Given the description of an element on the screen output the (x, y) to click on. 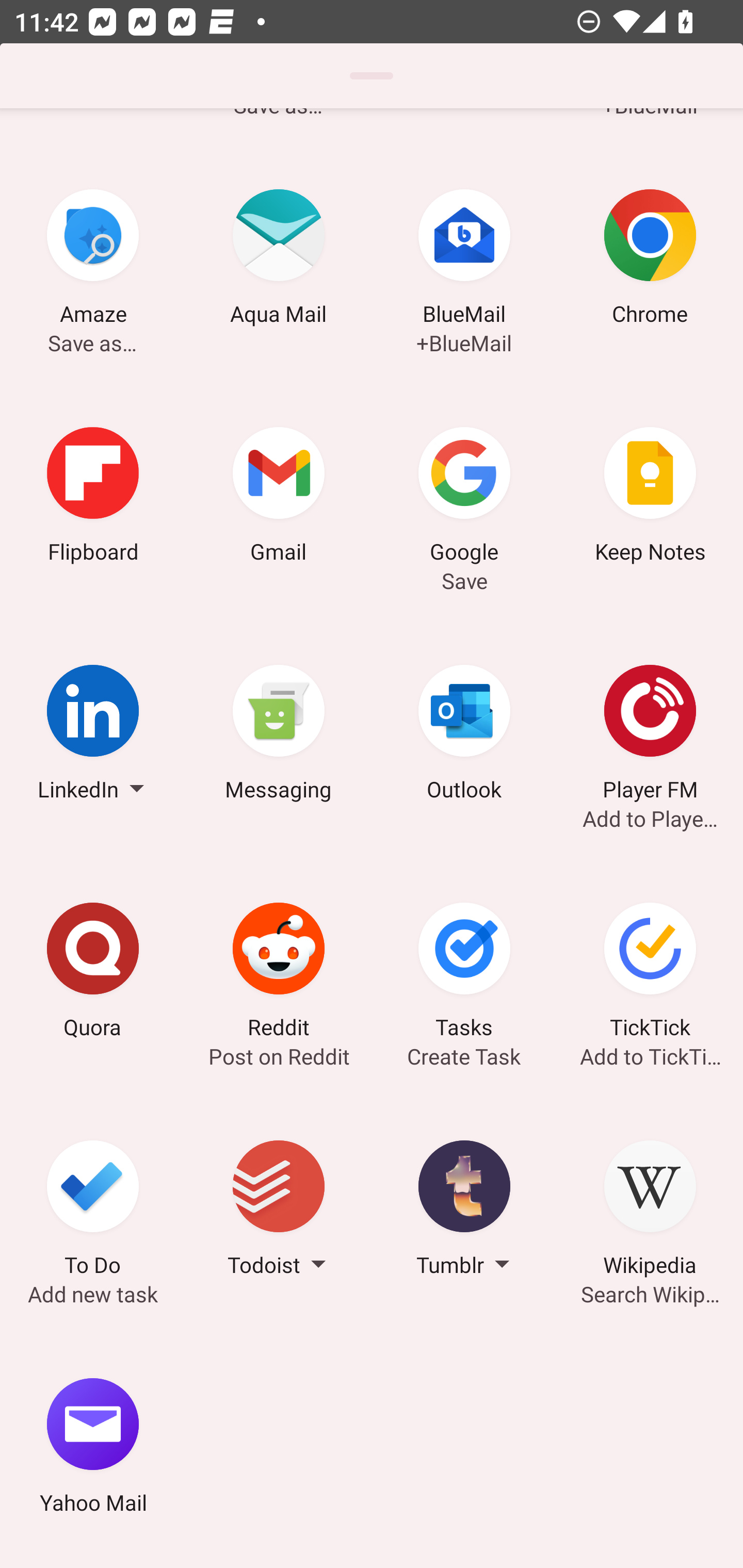
Amaze Save as… (92, 260)
Aqua Mail (278, 260)
BlueMail +BlueMail (464, 260)
Chrome (650, 260)
Flipboard (92, 497)
Gmail (278, 497)
Google Save (464, 497)
Keep Notes (650, 497)
LinkedIn (92, 735)
Messaging (278, 735)
Outlook (464, 735)
Player FM Add to Player FM (650, 735)
Quora (92, 973)
Reddit Post on Reddit (278, 973)
Tasks Create Task (464, 973)
TickTick Add to TickTick (650, 973)
To Do Add new task (92, 1210)
Todoist (278, 1210)
Tumblr (464, 1210)
Wikipedia Search Wikipedia (650, 1210)
Yahoo Mail (92, 1448)
